Given the description of an element on the screen output the (x, y) to click on. 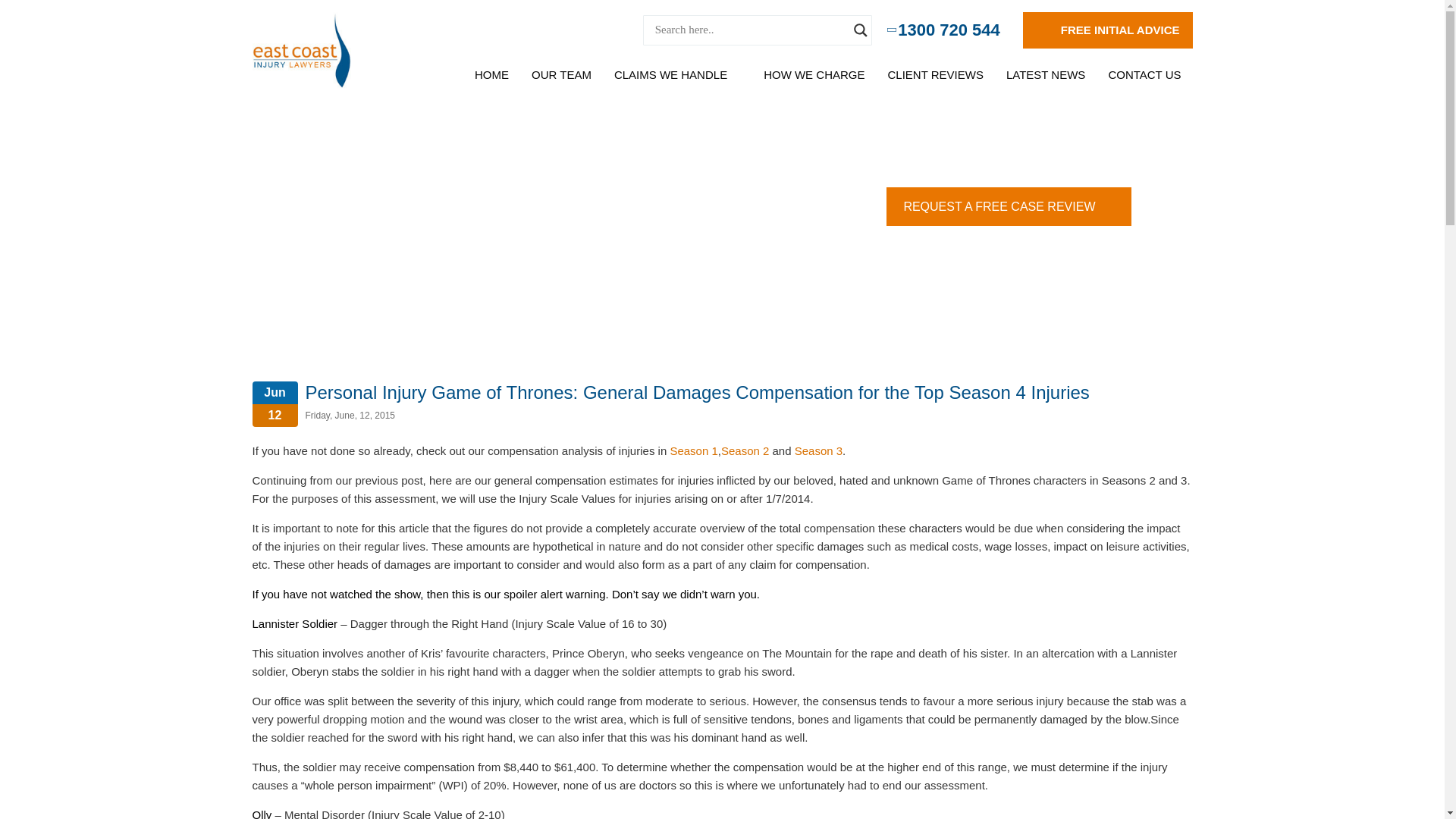
LATEST NEWS (1045, 74)
HOME (491, 74)
OUR TEAM (560, 74)
FREE INITIAL ADVICE (1107, 30)
CONTACT US (1144, 74)
HOW WE CHARGE (814, 74)
REQUEST A FREE CASE REVIEW (1008, 206)
Home (386, 195)
CLIENT REVIEWS (935, 74)
Season 3 (818, 450)
CLAIMS WE HANDLE (671, 74)
Season 2 (744, 450)
1300 720 544 (944, 29)
Season 1 (693, 450)
News (419, 195)
